Given the description of an element on the screen output the (x, y) to click on. 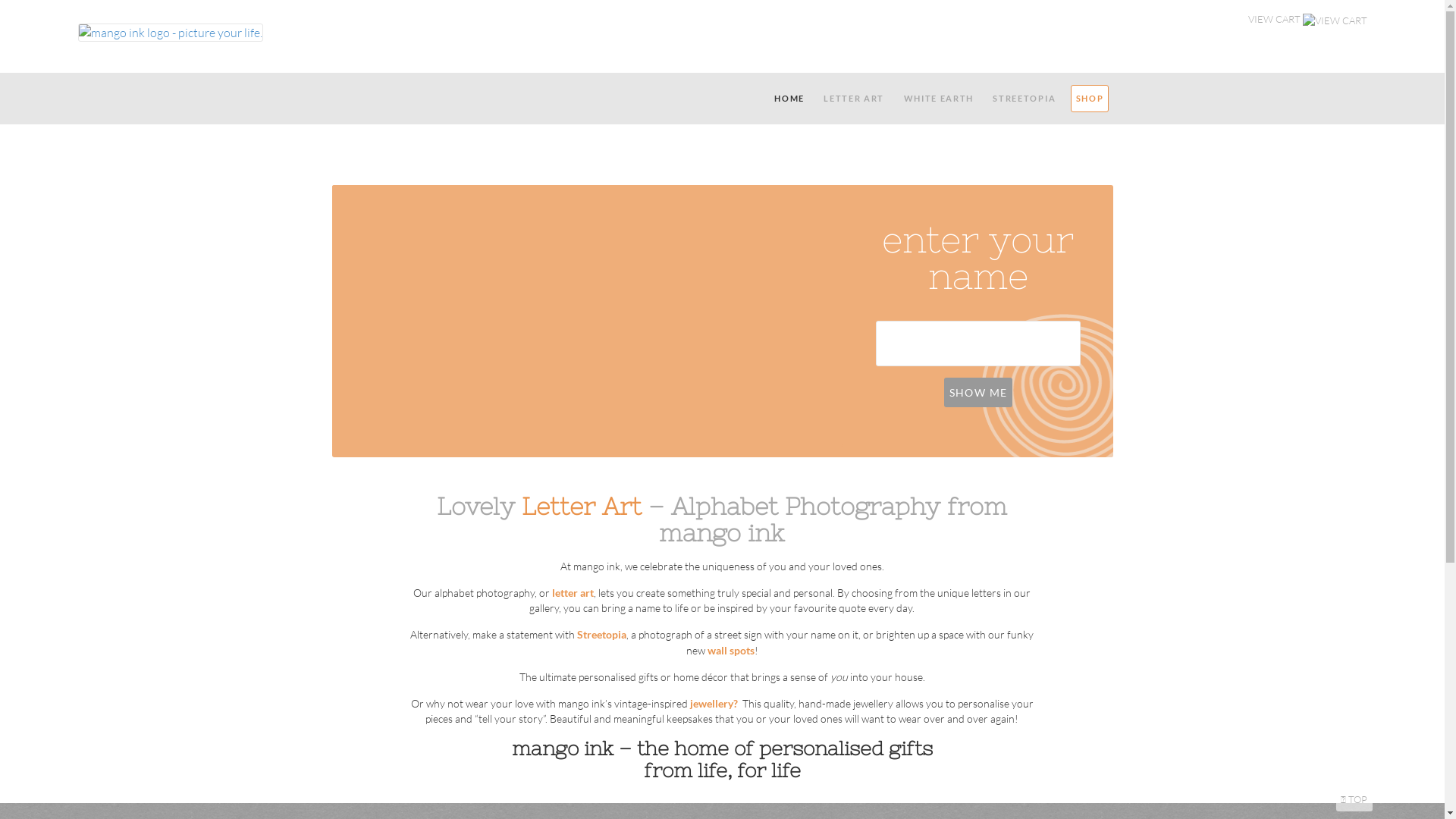
VIEW CART Element type: text (1307, 19)
LETTER ART Element type: text (853, 98)
wall spots Element type: text (730, 649)
Letter Art Element type: text (581, 506)
jewellery? Element type: text (713, 702)
WHITE EARTH Element type: text (938, 98)
STREETOPIA Element type: text (1024, 98)
Streetopia Element type: text (601, 633)
HOME Element type: text (789, 98)
SHOP Element type: text (1089, 98)
letter art Element type: text (572, 592)
SHOW ME Element type: text (977, 392)
